Given the description of an element on the screen output the (x, y) to click on. 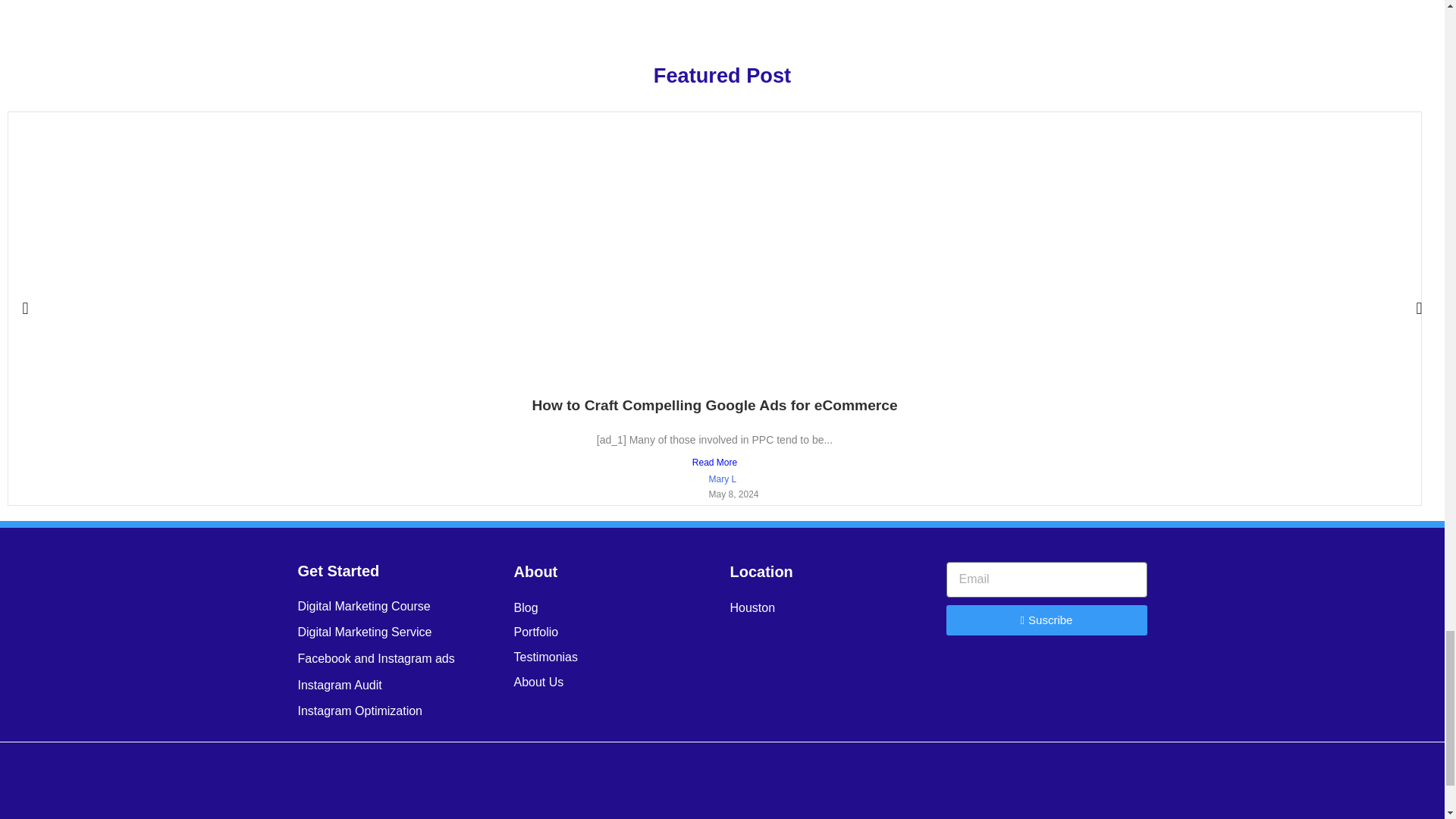
Posts by Mary L (721, 479)
How to Craft Compelling Google Ads for eCommerce (713, 405)
